Given the description of an element on the screen output the (x, y) to click on. 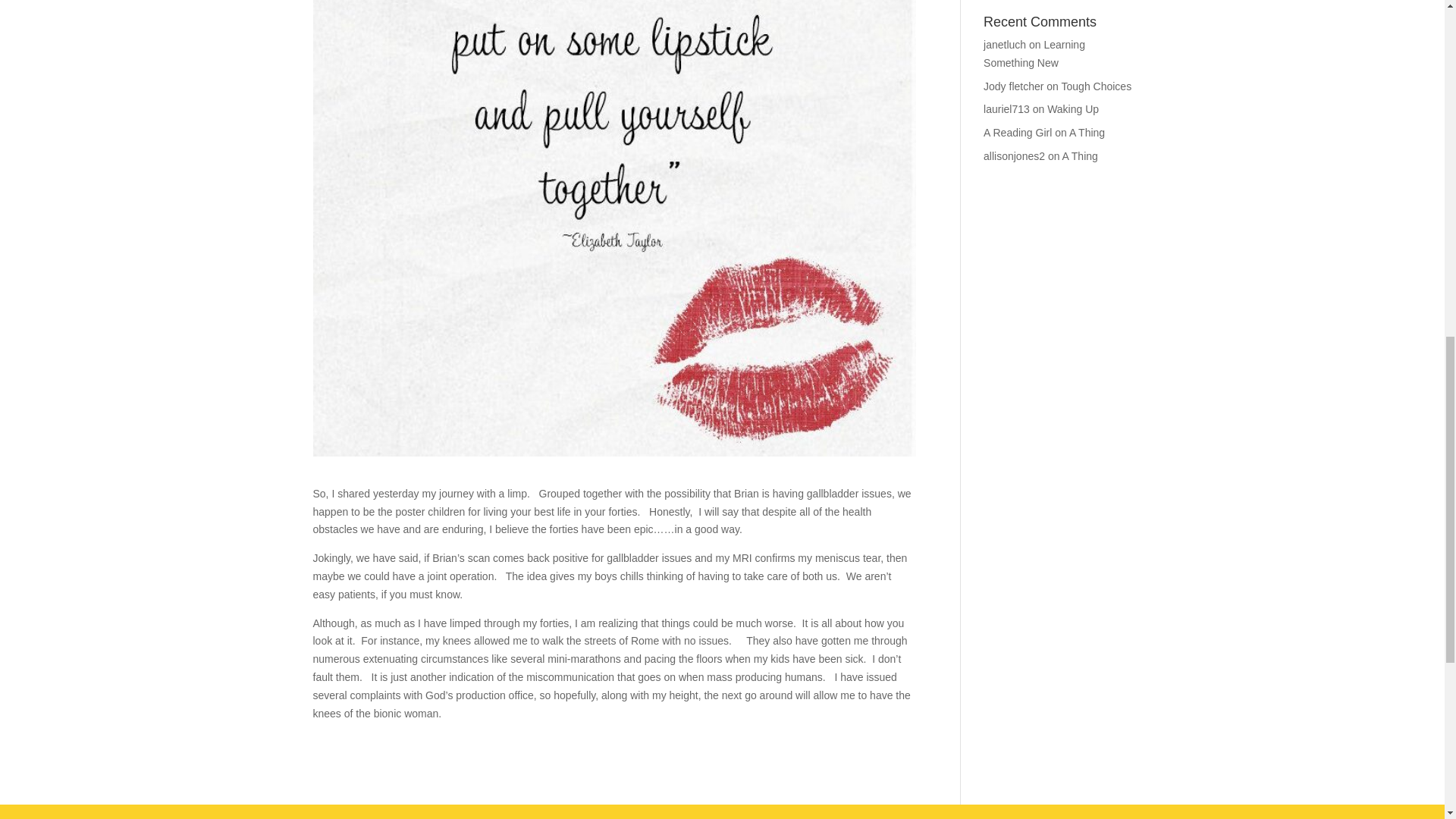
Learning Something New (1034, 53)
lauriel713 (1006, 109)
A Thing (1086, 132)
Tough Choices (1096, 86)
A Reading Girl (1017, 132)
Waking Up (1072, 109)
A Thing (1079, 155)
allisonjones2 (1014, 155)
